Given the description of an element on the screen output the (x, y) to click on. 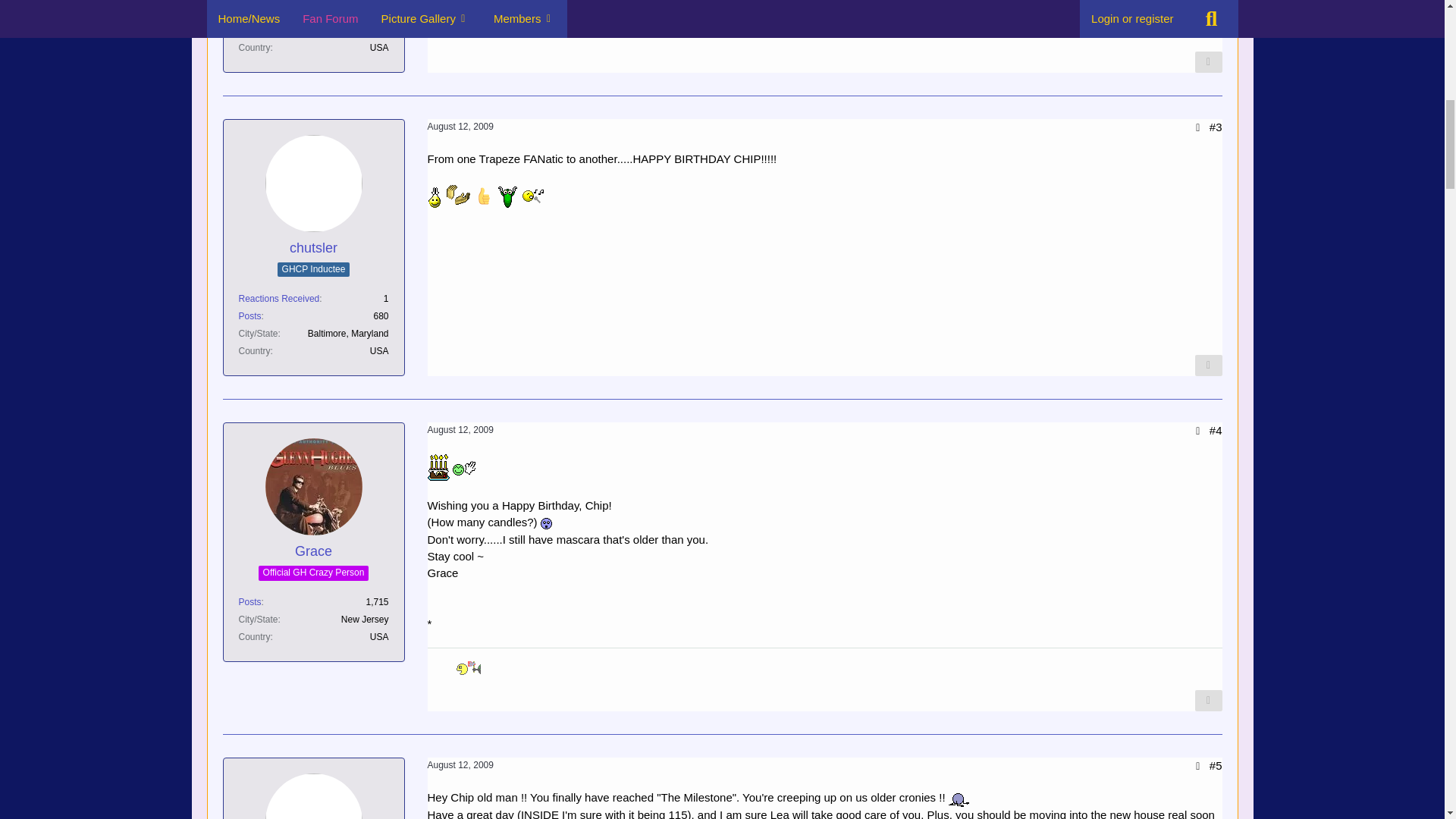
Bow (959, 798)
Claphands (458, 196)
thumbup (484, 195)
Hi5 (464, 467)
Bouncer (507, 196)
EEK! (545, 523)
Singer (532, 196)
